Given the description of an element on the screen output the (x, y) to click on. 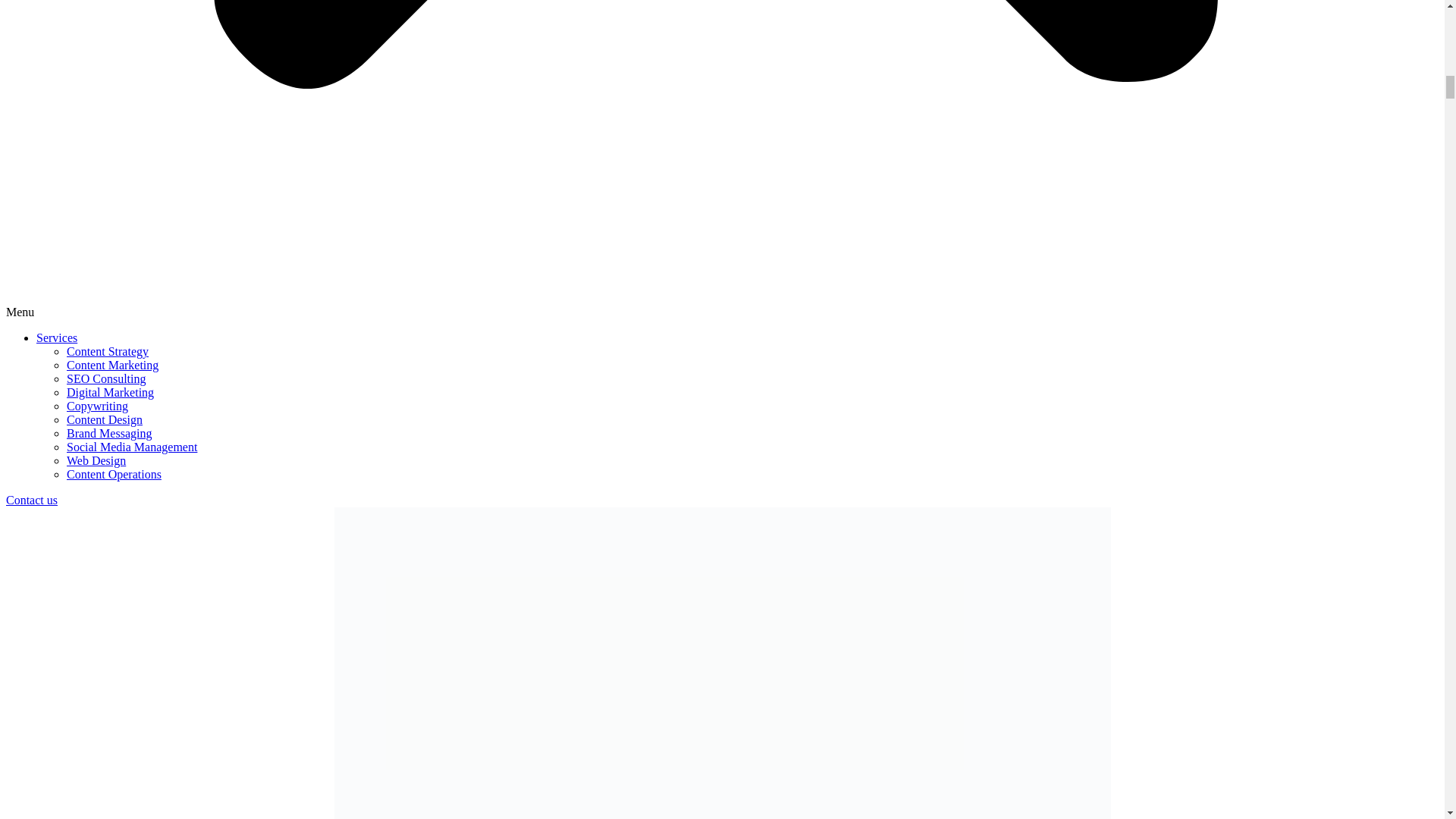
Services (56, 337)
Content Operations (113, 473)
SEO Consulting (105, 378)
Content Design (104, 419)
Brand Messaging (108, 432)
Content Marketing (112, 364)
Digital Marketing (110, 391)
Web Design (95, 460)
Social Media Management (131, 446)
Copywriting (97, 405)
Content Strategy (107, 350)
Contact us (31, 499)
